Given the description of an element on the screen output the (x, y) to click on. 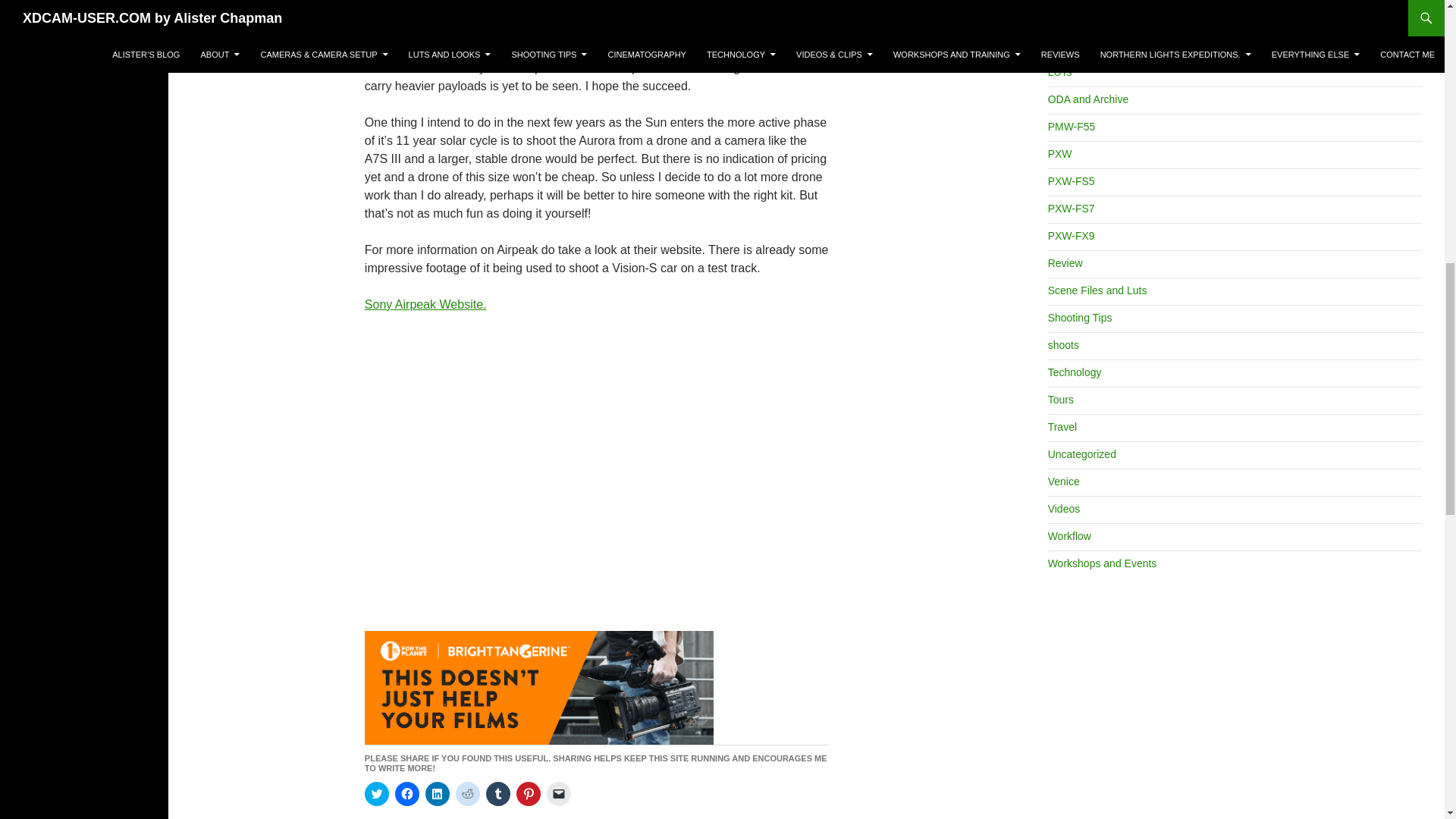
Click to share on Twitter (376, 793)
Click to email a link to a friend (558, 793)
Click to share on Tumblr (498, 793)
Click to share on Facebook (406, 793)
Click to share on LinkedIn (437, 793)
Click to share on Reddit (467, 793)
Click to share on Pinterest (528, 793)
